Given the description of an element on the screen output the (x, y) to click on. 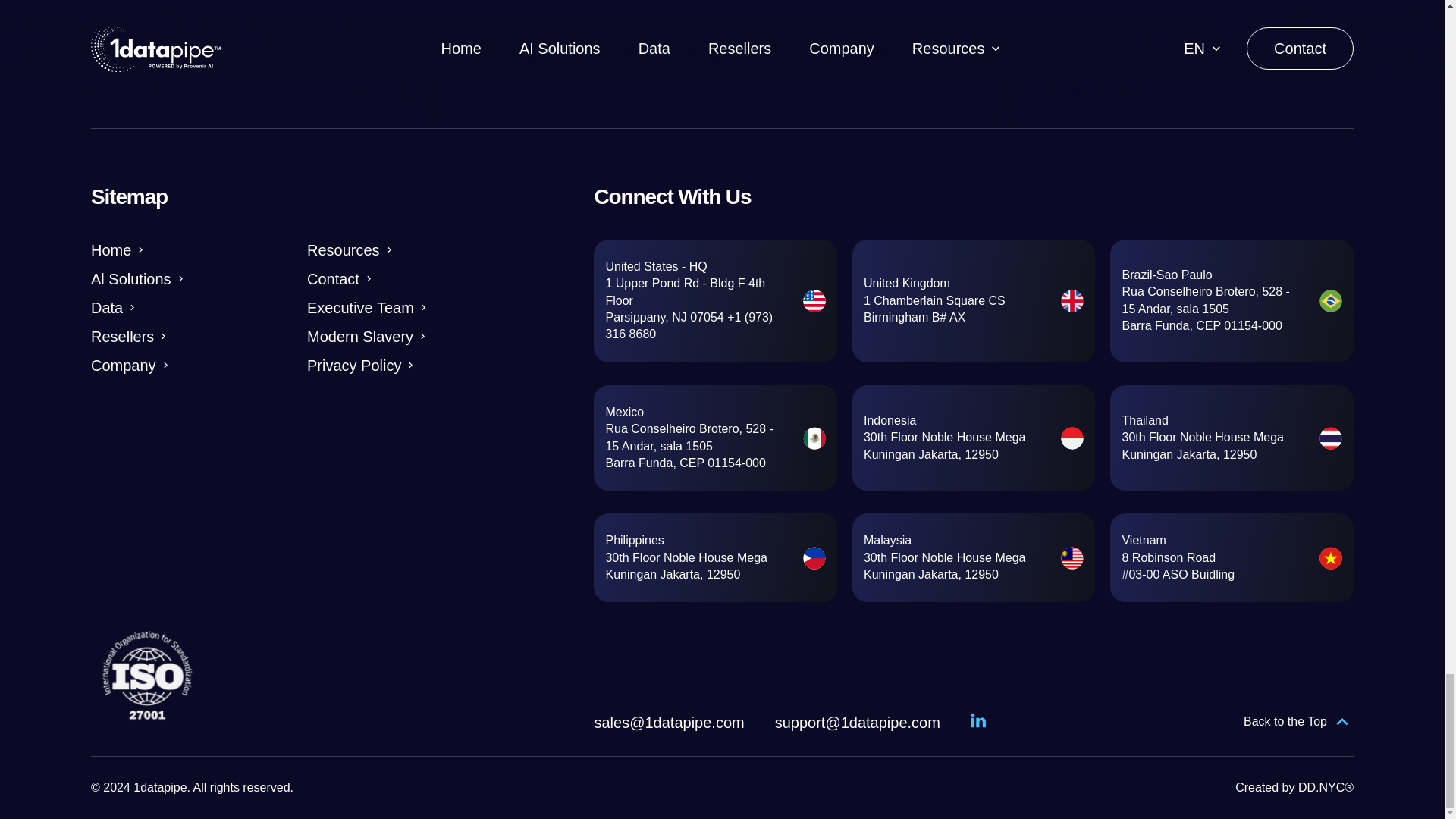
Data (114, 307)
Mexico (624, 411)
Resellers (129, 336)
Home (118, 250)
Vietnam (1143, 540)
Philippines (634, 540)
United Kingdom (906, 282)
Modern Slavery (367, 336)
Contact (340, 278)
Privacy Policy (361, 364)
United States - HQ (655, 266)
Resources (350, 250)
Thailand (1144, 420)
Indonesia (889, 420)
Al Solutions (138, 278)
